Given the description of an element on the screen output the (x, y) to click on. 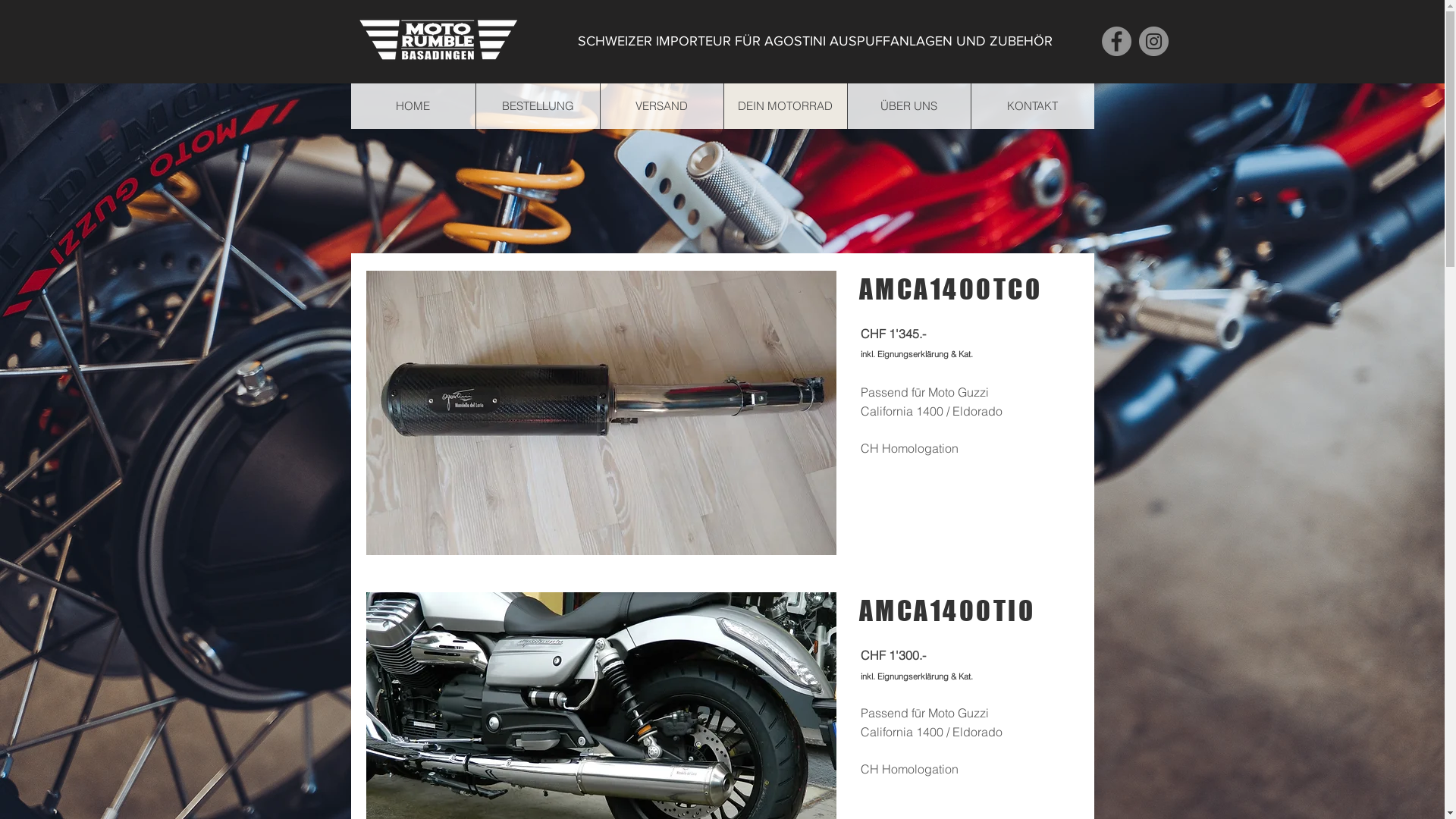
BESTELLUNG Element type: text (536, 105)
KONTAKT Element type: text (1032, 105)
HOME Element type: text (412, 105)
VERSAND Element type: text (660, 105)
DEIN MOTORRAD Element type: text (785, 105)
